Given the description of an element on the screen output the (x, y) to click on. 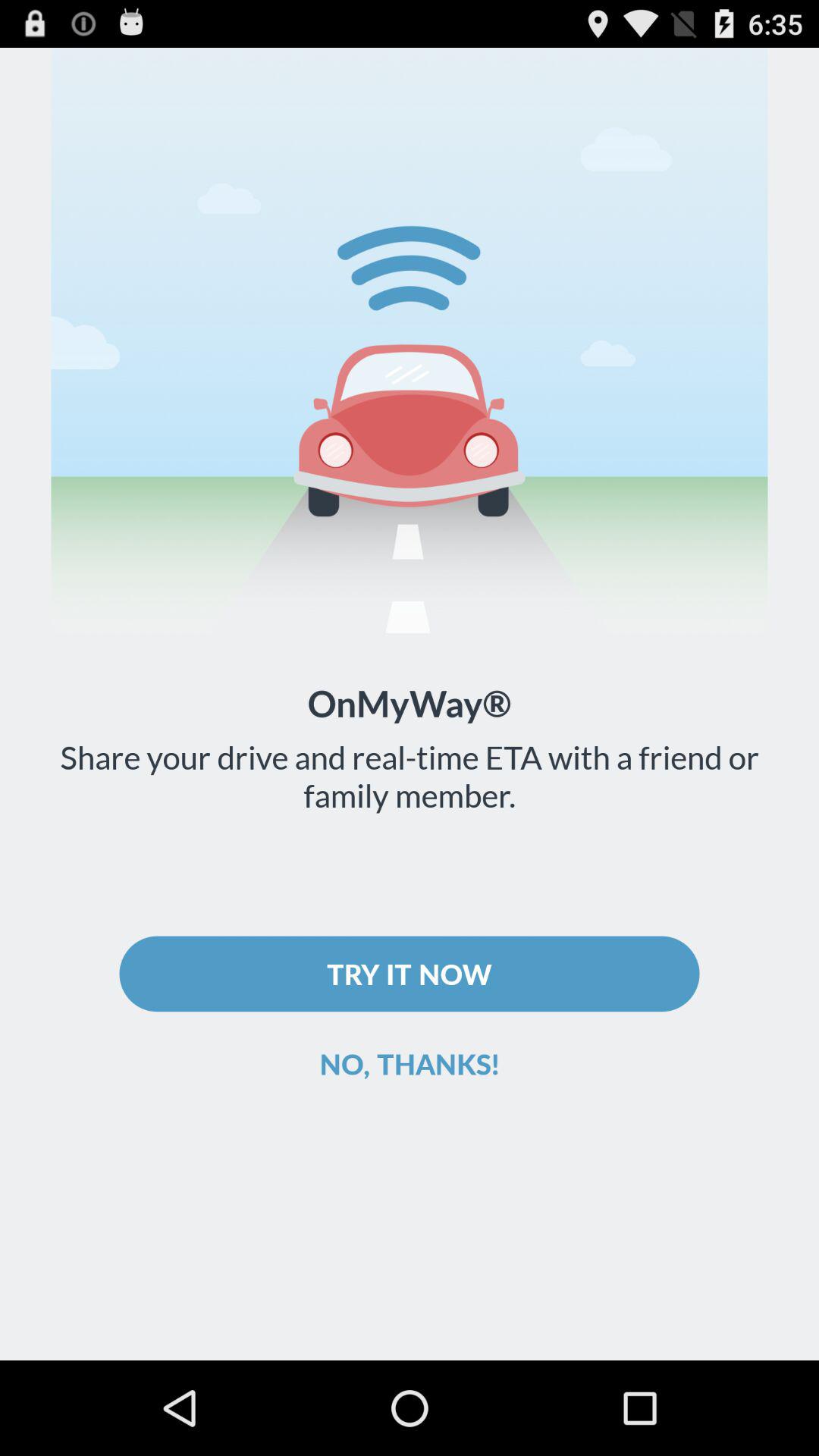
press the icon above the no, thanks! icon (409, 973)
